Given the description of an element on the screen output the (x, y) to click on. 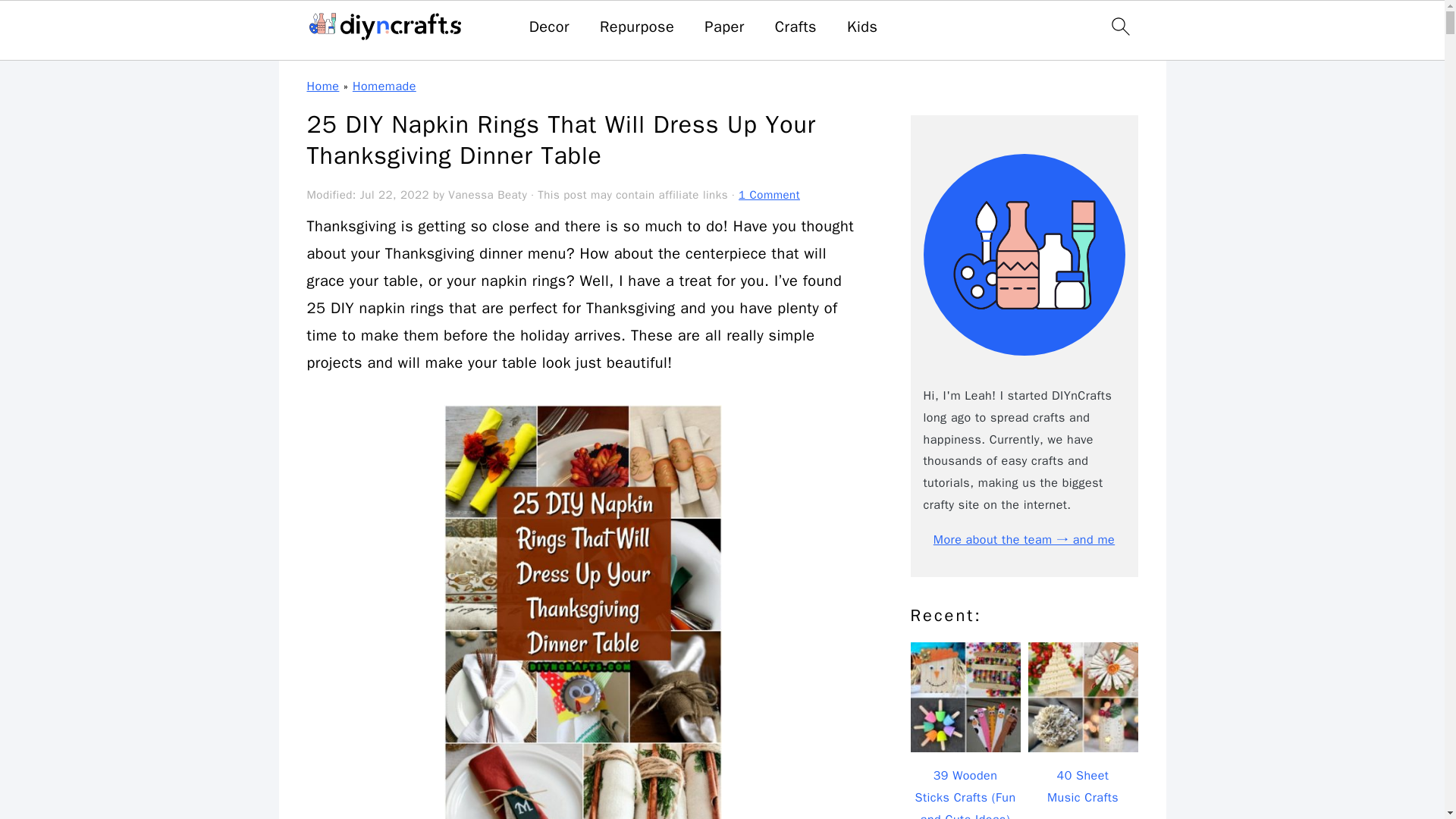
Decor (549, 27)
search icon (1119, 26)
